Given the description of an element on the screen output the (x, y) to click on. 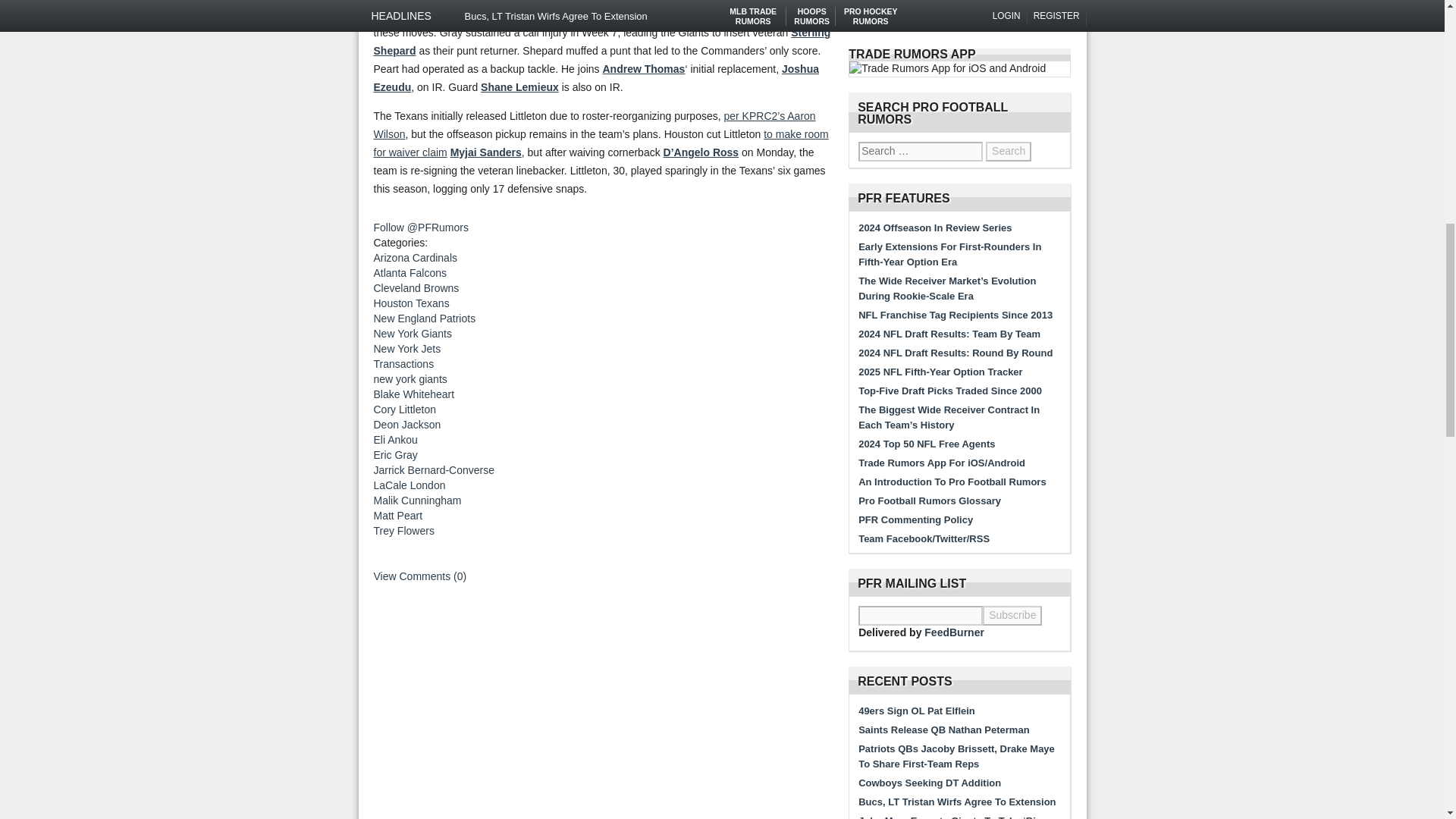
View all posts in New York Jets (406, 348)
View all posts in Atlanta Falcons (409, 272)
View all posts in Cleveland Browns (415, 287)
View all posts in Transactions (402, 363)
View all posts in Jarrick Bernard-Converse (433, 469)
View all posts in LaCale London (408, 485)
View all posts in Deon Jackson (406, 424)
View all posts in Cory Littleton (403, 409)
View all posts in New York Giants (411, 333)
View all posts in Arizona Cardinals (414, 257)
View all posts in Eric Gray (394, 454)
Search (1007, 151)
View all posts in New England Patriots (424, 318)
View all posts in new york giants (409, 378)
Subscribe (1012, 615)
